Given the description of an element on the screen output the (x, y) to click on. 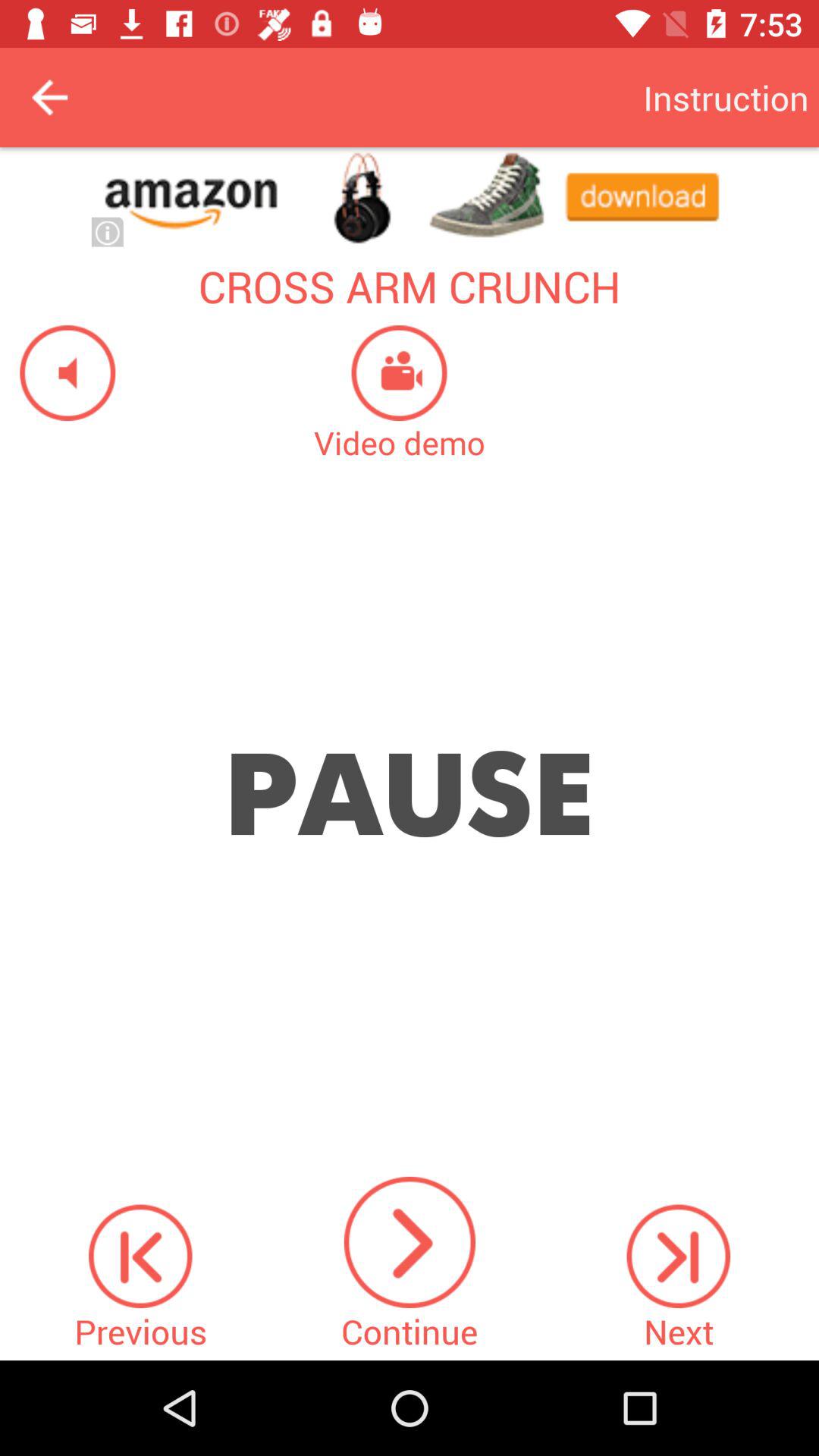
go back (49, 97)
